Given the description of an element on the screen output the (x, y) to click on. 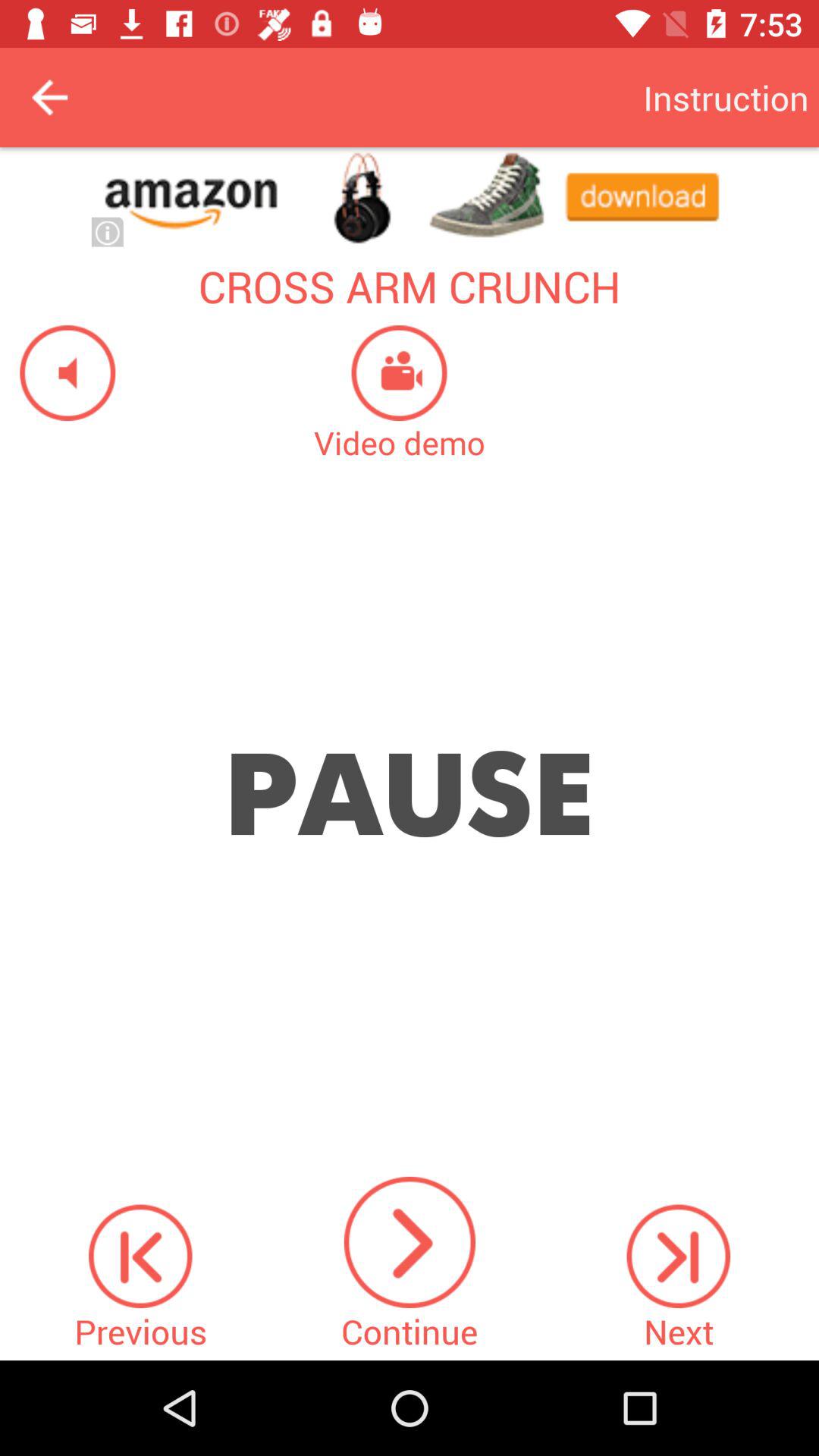
go back (49, 97)
